Given the description of an element on the screen output the (x, y) to click on. 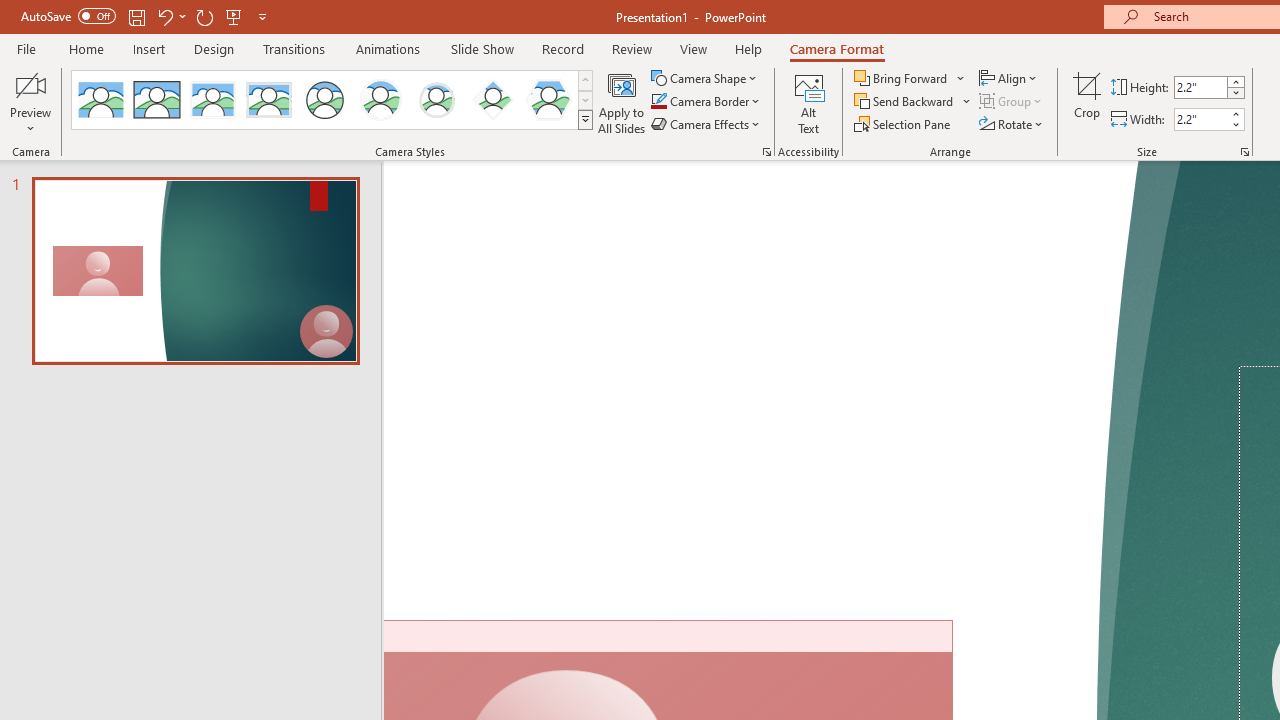
Crop (1087, 102)
Bring Forward (902, 78)
Send Backward (905, 101)
Group (1012, 101)
Align (1009, 78)
Enable Camera Preview (30, 84)
Size and Position... (1244, 151)
Cameo Width (1201, 119)
Camera Border Blue, Accent 1 (658, 101)
